Given the description of an element on the screen output the (x, y) to click on. 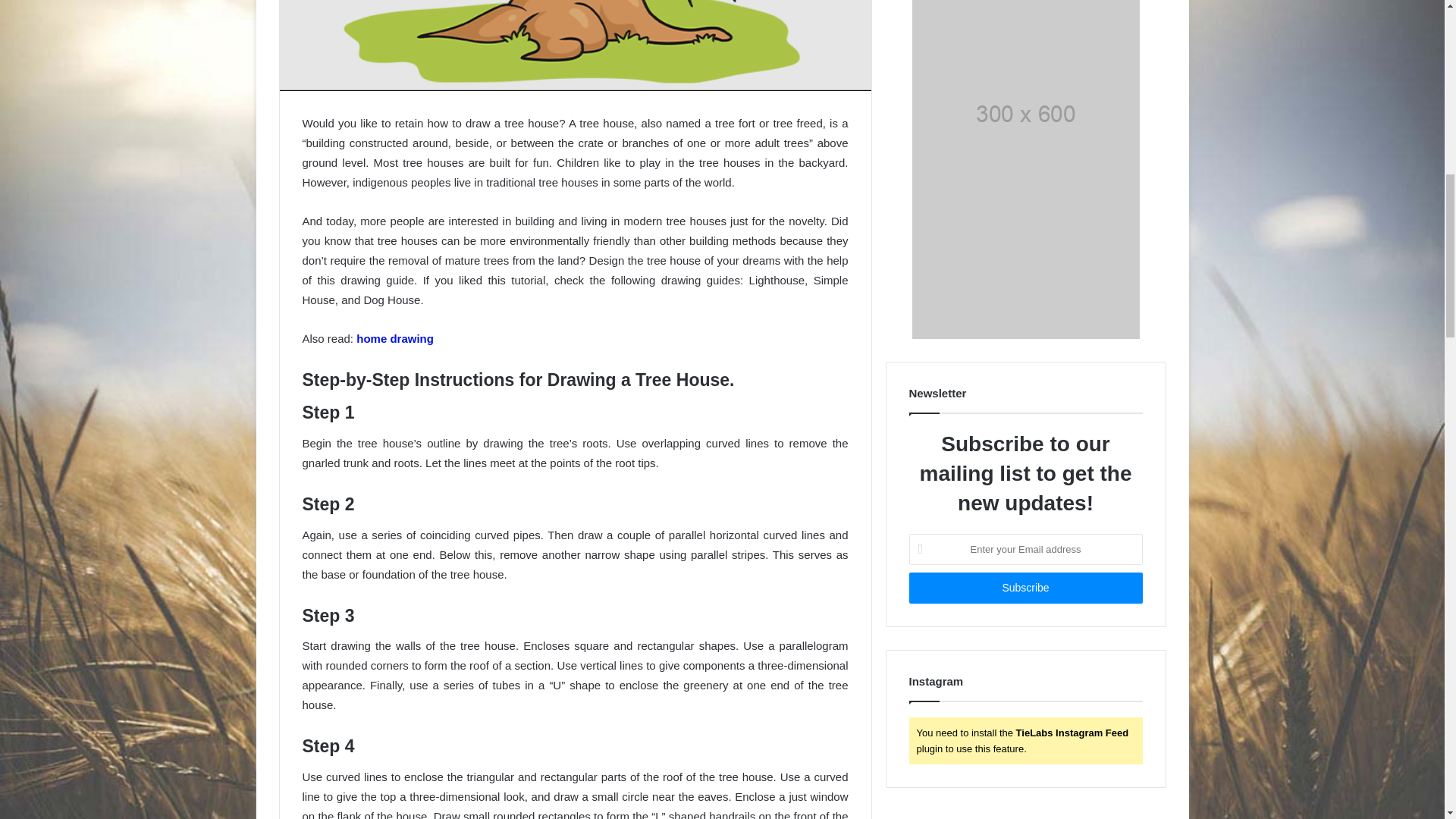
home drawing (394, 338)
Subscribe (1025, 587)
